Given the description of an element on the screen output the (x, y) to click on. 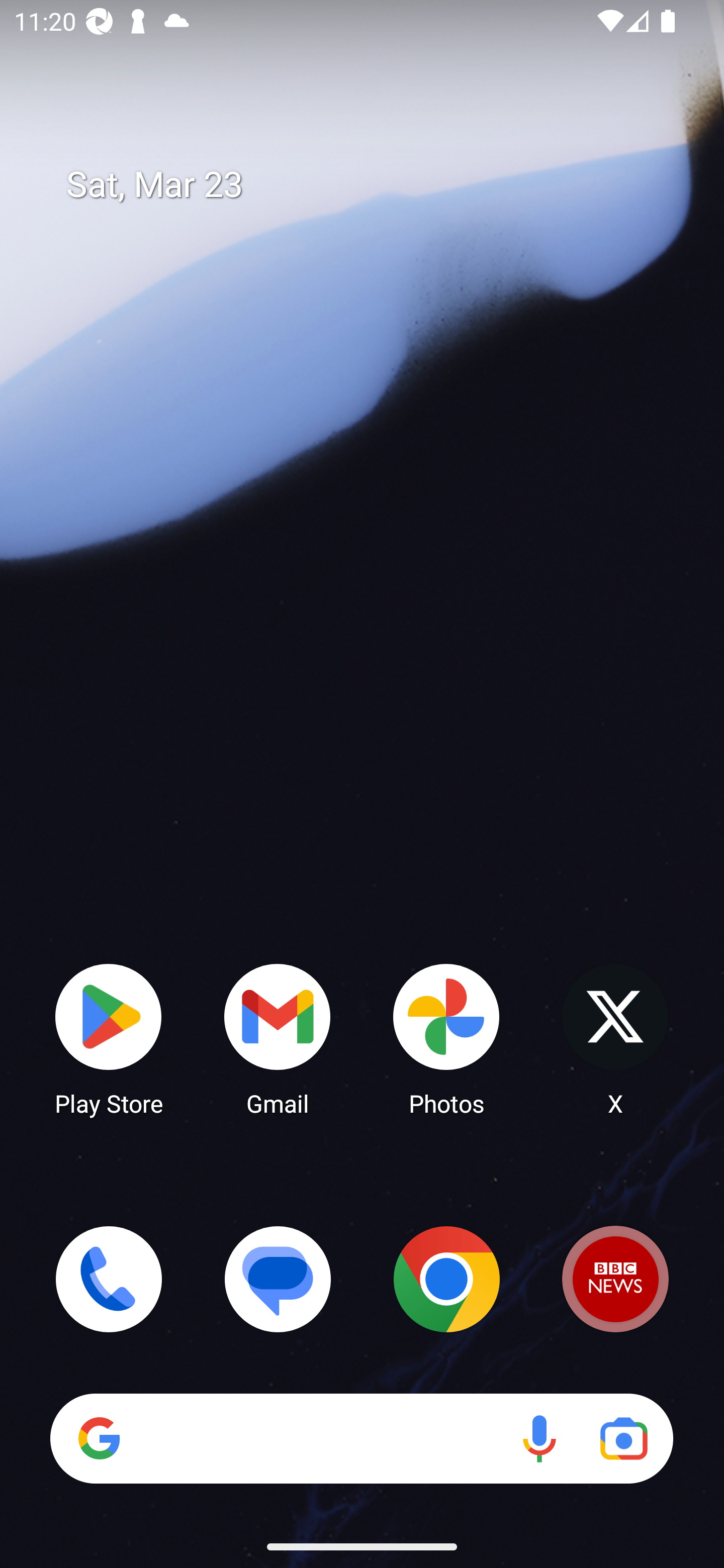
Sat, Mar 23 (375, 184)
Play Store (108, 1038)
Gmail (277, 1038)
Photos (445, 1038)
X (615, 1038)
Phone (108, 1279)
Messages (277, 1279)
Chrome (446, 1279)
BBC News Predicted app: BBC News (615, 1279)
Voice search (539, 1438)
Google Lens (623, 1438)
